Given the description of an element on the screen output the (x, y) to click on. 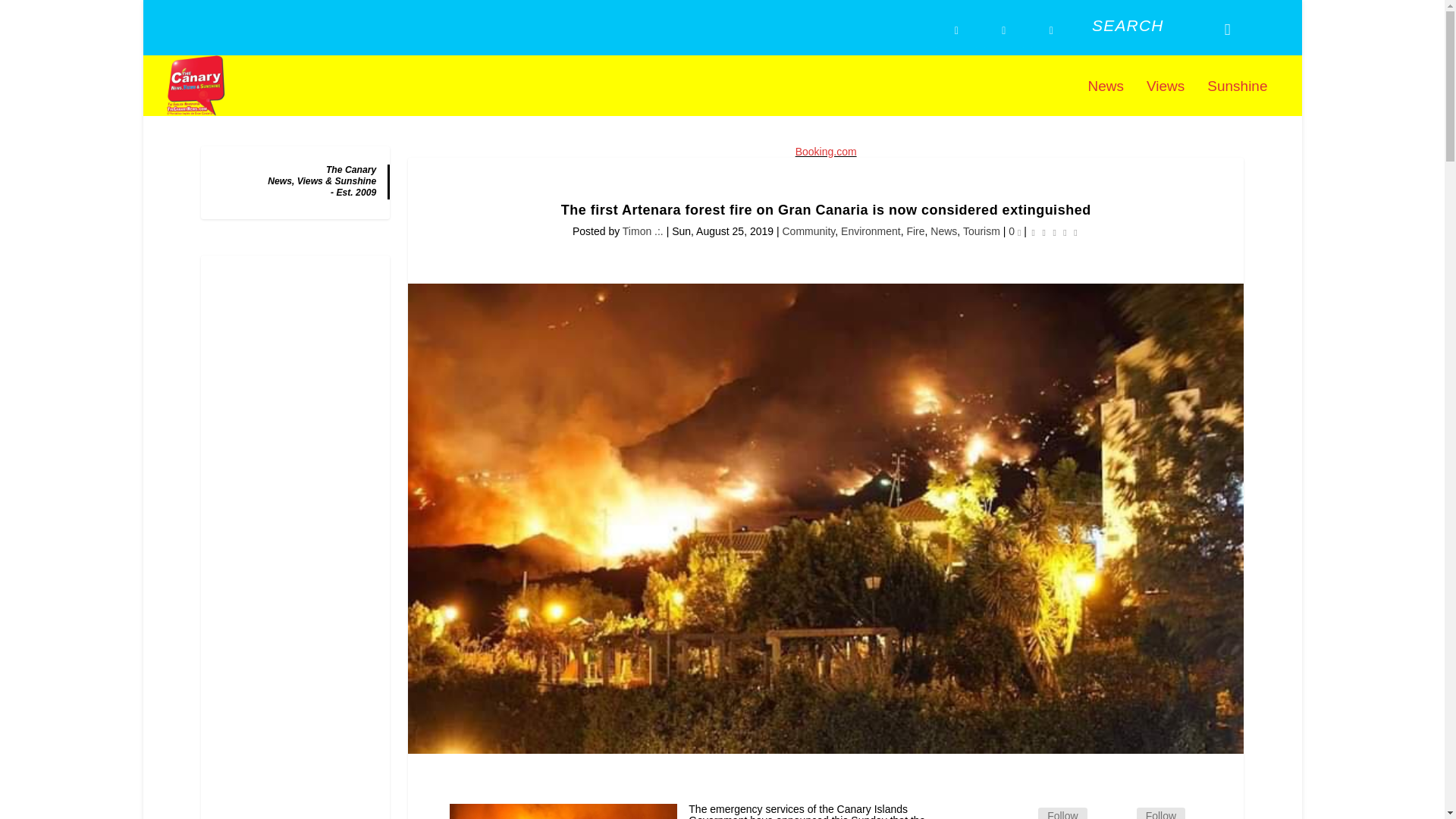
Environment (871, 231)
Follow on Facebook (1019, 811)
Timon .:. (643, 231)
Tourism (981, 231)
Fire (914, 231)
Follow on Twitter (1118, 811)
Posts by Timon .:. (643, 231)
0 (1014, 231)
Booking.com (825, 151)
Rating: 0.00 (1054, 232)
News (943, 231)
News (1105, 98)
Follow (1062, 813)
Community (809, 231)
Facebook (1062, 813)
